Given the description of an element on the screen output the (x, y) to click on. 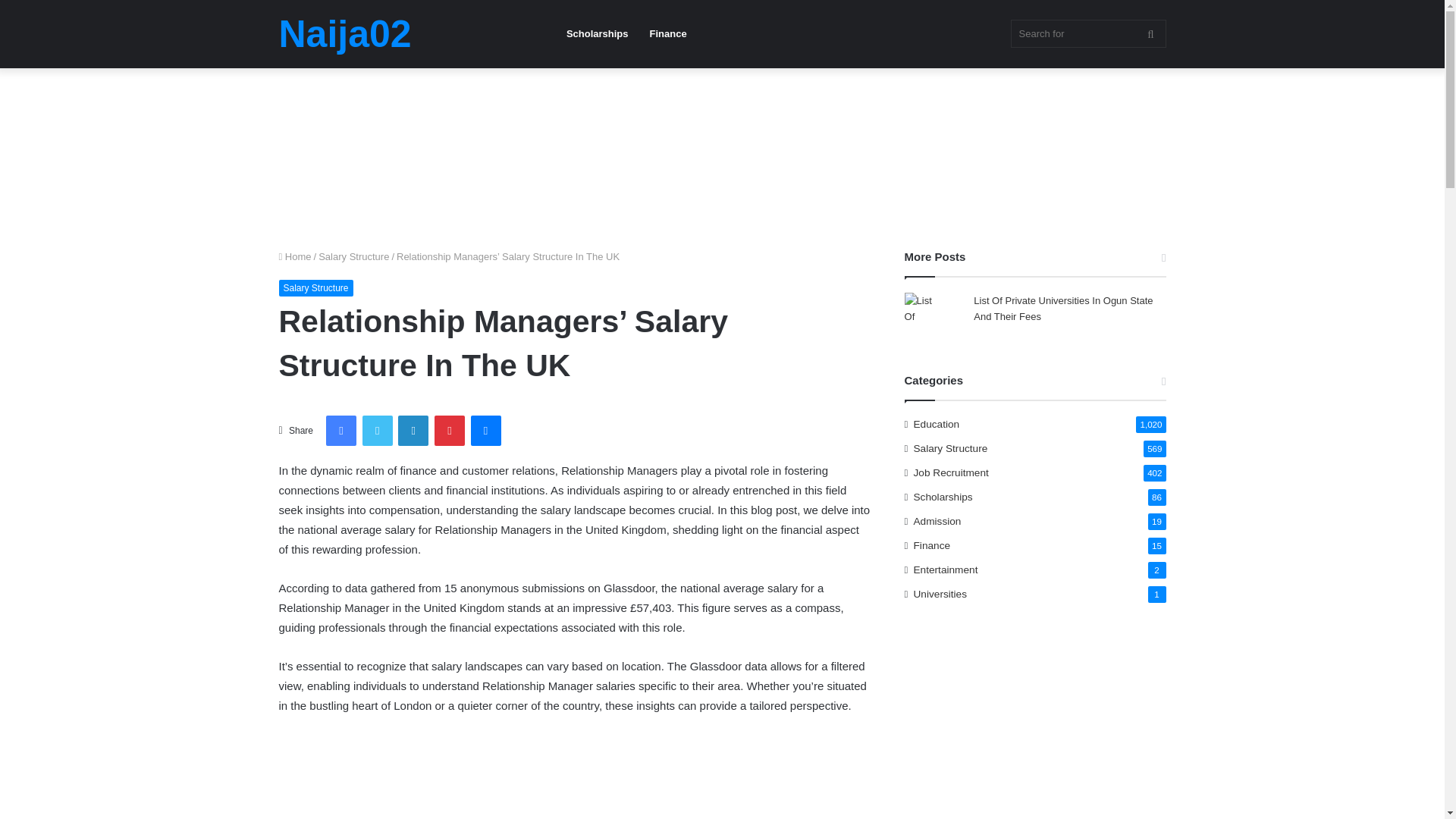
Salary Structure (316, 288)
Twitter (377, 430)
Pinterest (448, 430)
Messenger (485, 430)
Scholarships (597, 33)
Naija02 (345, 34)
Search for (1088, 33)
Twitter (377, 430)
LinkedIn (412, 430)
LinkedIn (412, 430)
